Given the description of an element on the screen output the (x, y) to click on. 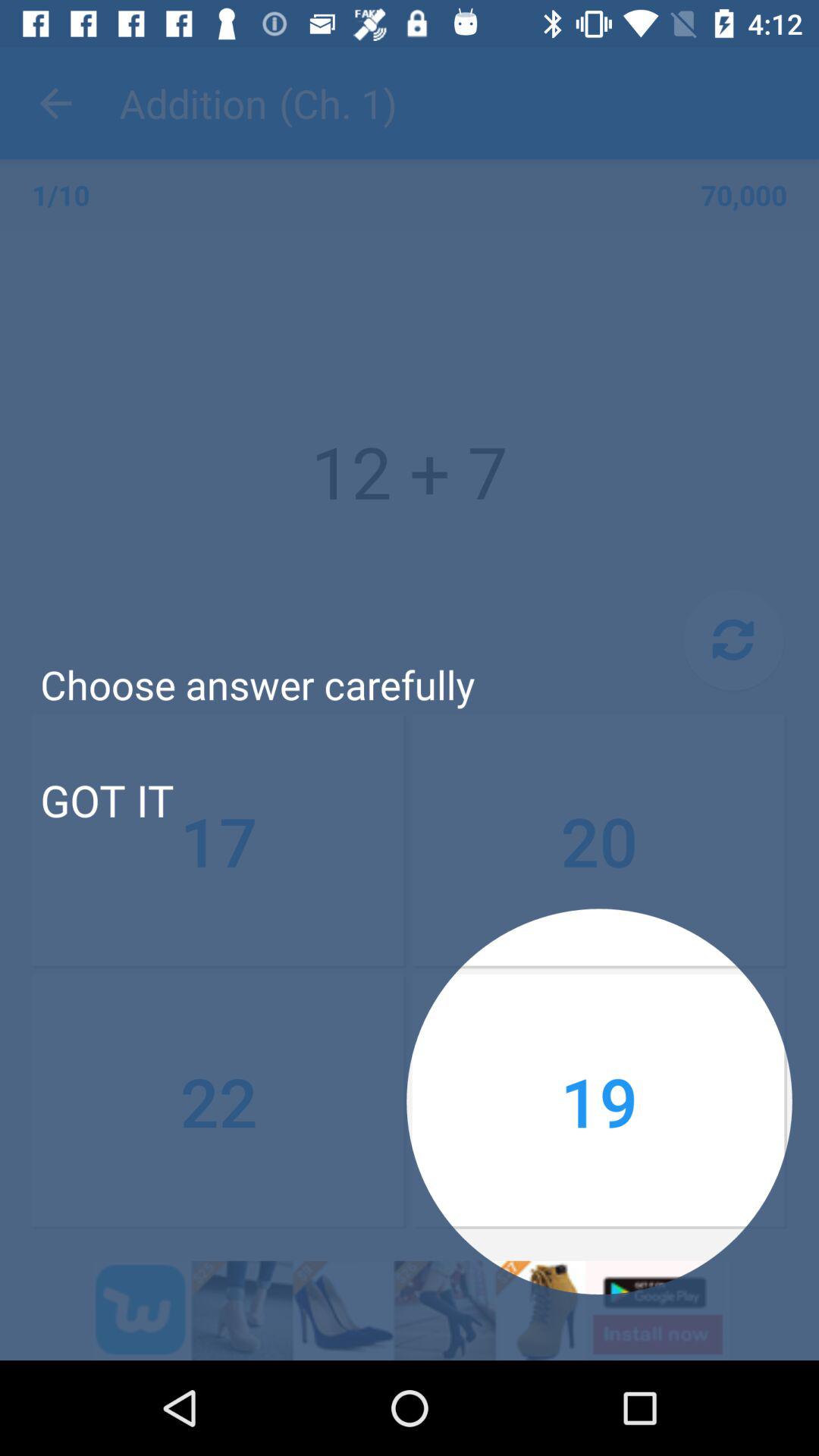
tap the icon above 22 item (107, 799)
